Given the description of an element on the screen output the (x, y) to click on. 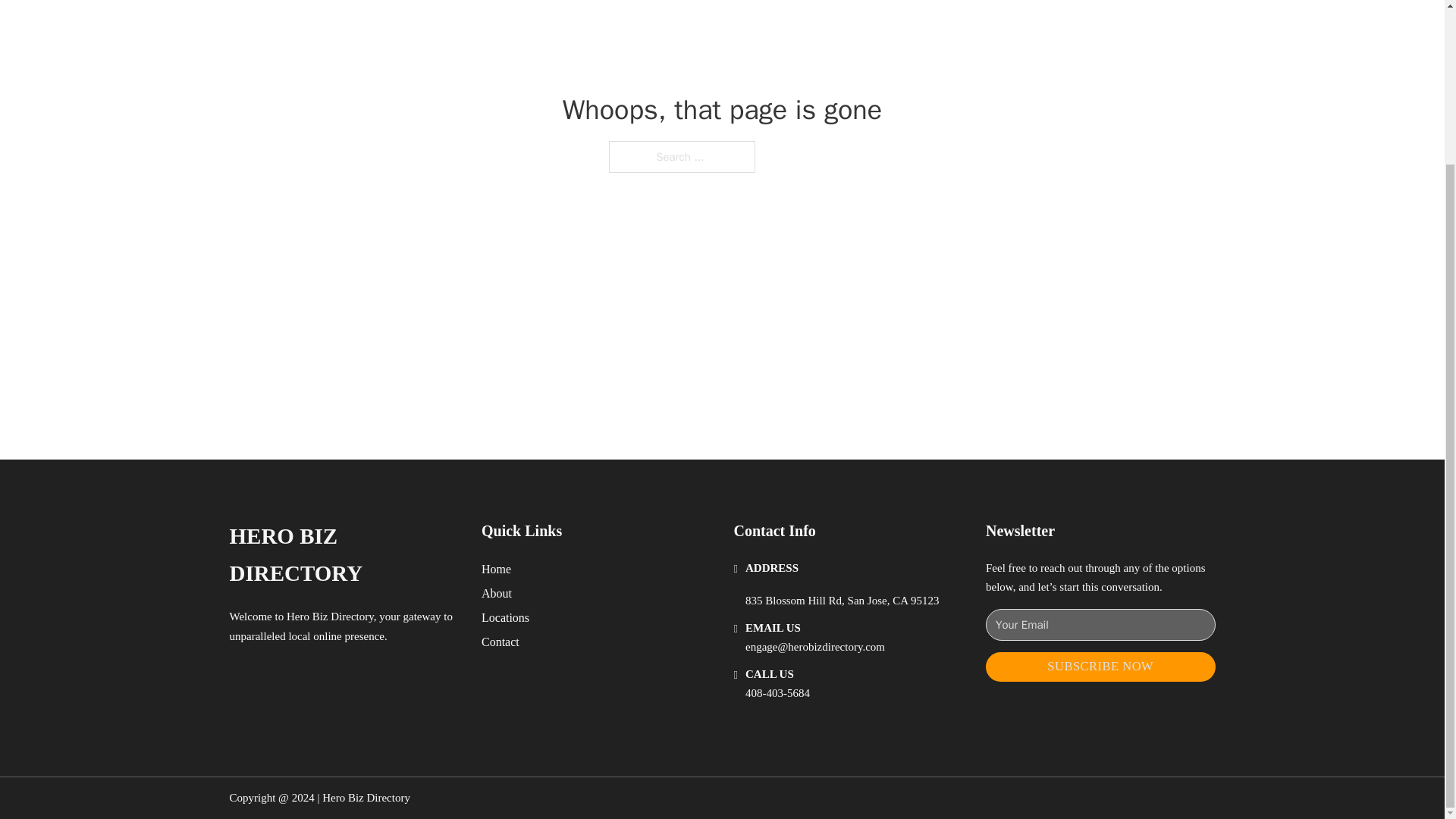
SUBSCRIBE NOW (1100, 666)
HERO BIZ DIRECTORY (343, 554)
About (496, 593)
Locations (505, 617)
Contact (500, 641)
408-403-5684 (777, 693)
Home (496, 568)
